Given the description of an element on the screen output the (x, y) to click on. 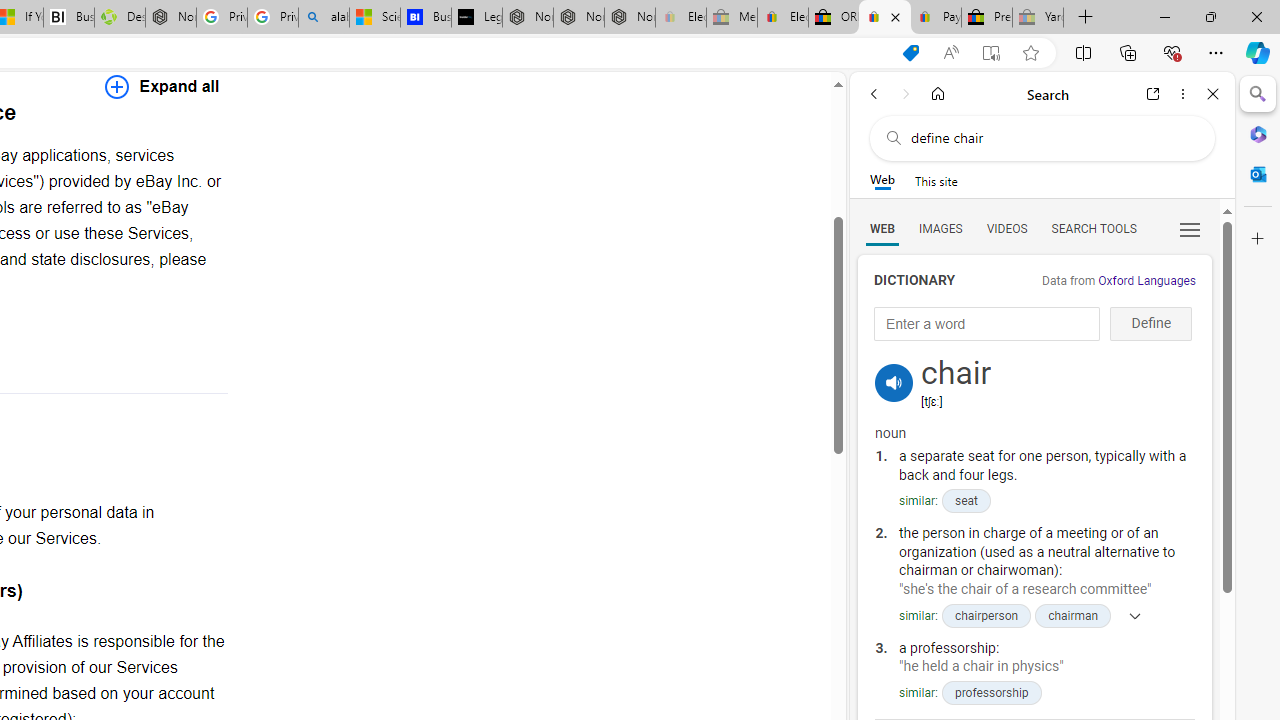
pronounce (893, 382)
This site has coupons! Shopping in Microsoft Edge (910, 53)
chairperson (985, 615)
Press Room - eBay Inc. (987, 17)
